Given the description of an element on the screen output the (x, y) to click on. 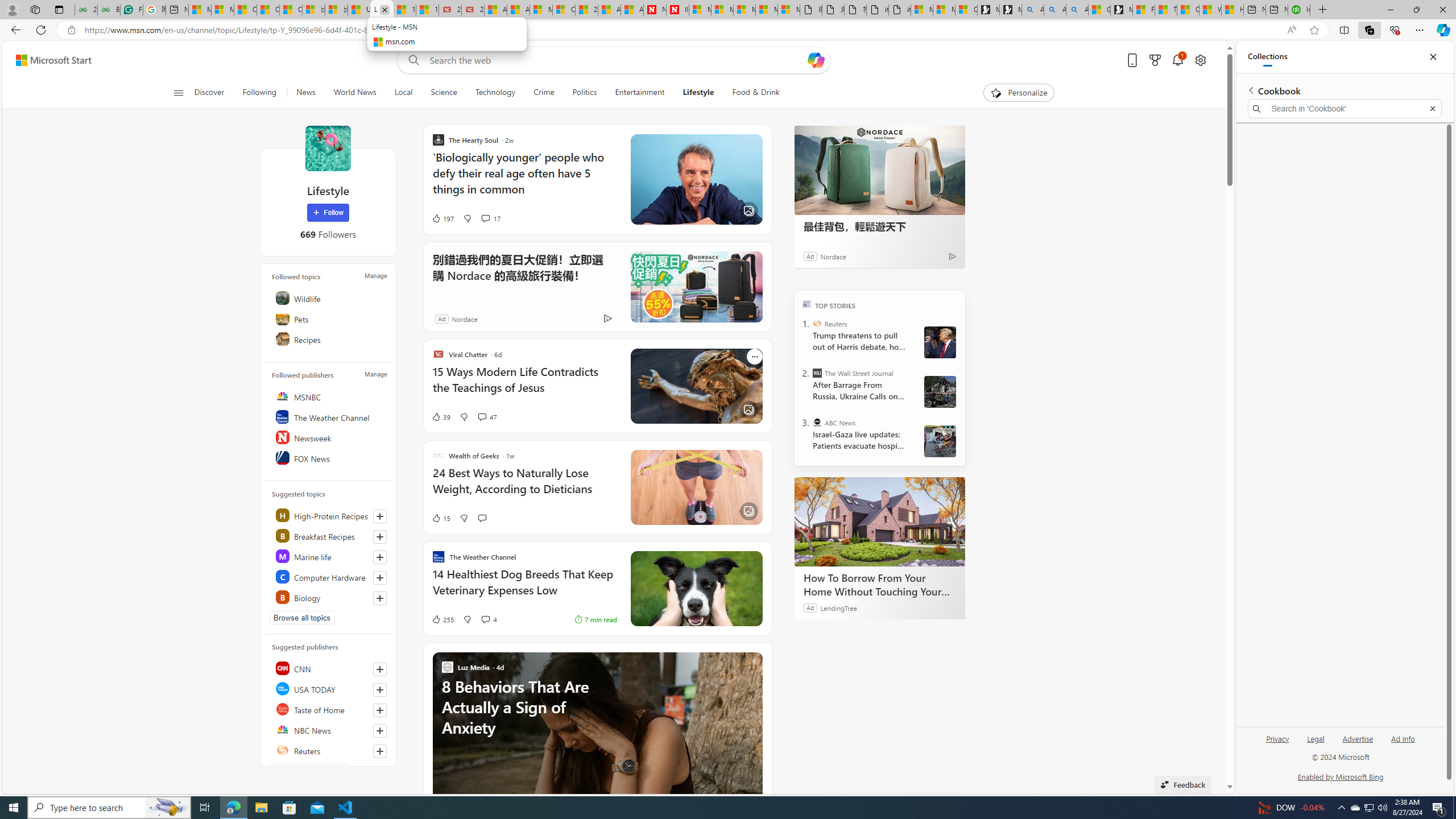
Following (258, 92)
USA TODAY - MSN (359, 9)
Privacy (1277, 742)
Food and Drink - MSN (1143, 9)
Ad info (1402, 738)
Politics (584, 92)
Food & Drink (751, 92)
Entertainment (639, 92)
Settings and more (Alt+F) (1419, 29)
TOP (806, 302)
